Given the description of an element on the screen output the (x, y) to click on. 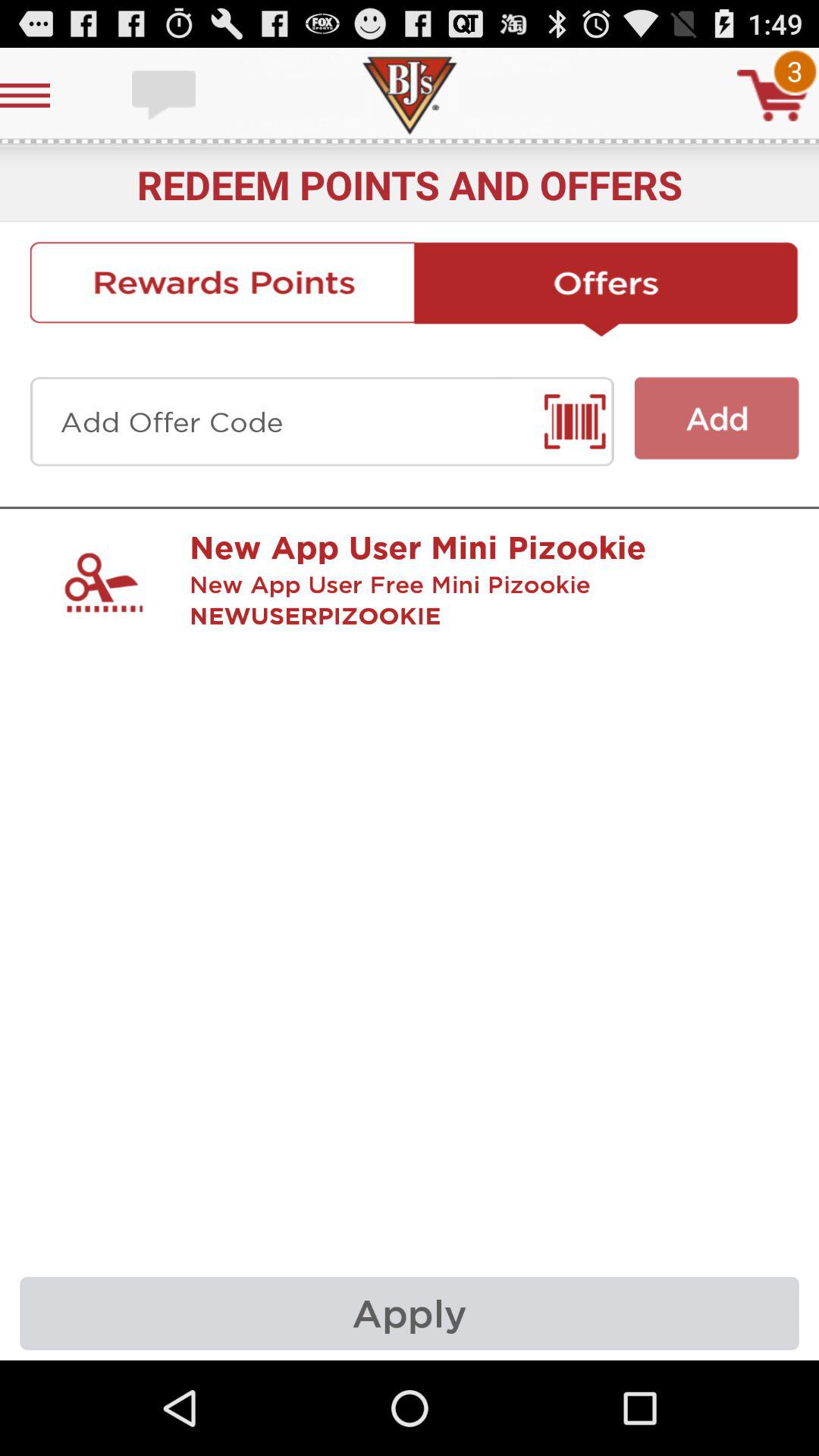
add button (716, 418)
